Given the description of an element on the screen output the (x, y) to click on. 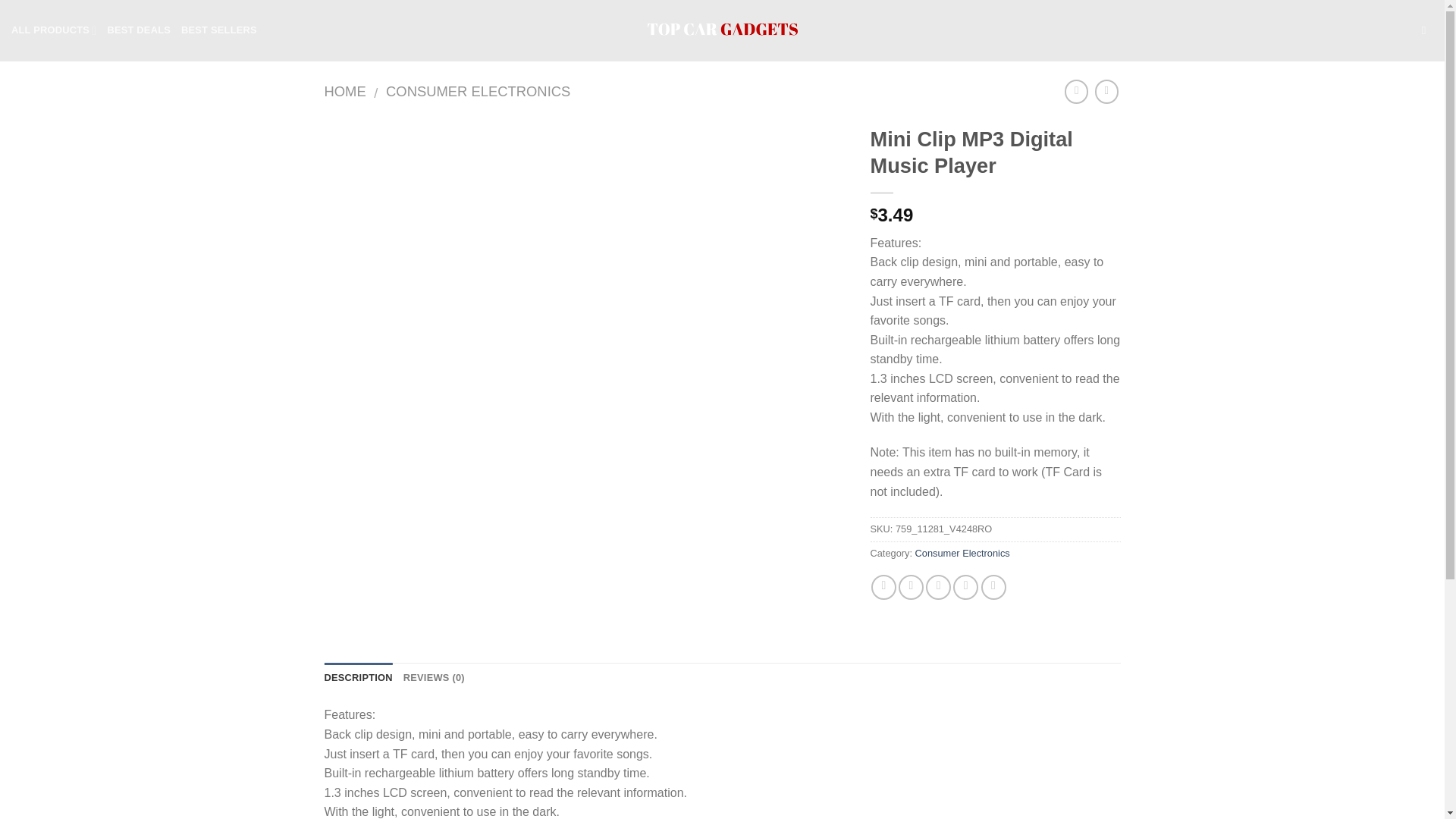
Pin on Pinterest (965, 586)
Share on Facebook (883, 586)
Share on Twitter (910, 586)
Email to a Friend (938, 586)
CONSUMER ELECTRONICS (477, 91)
BEST DEALS (138, 30)
HOME (345, 91)
Consumer Electronics (962, 552)
Share on Tumblr (993, 586)
BEST SELLERS (218, 30)
ALL PRODUCTS (53, 30)
DESCRIPTION (358, 677)
